Given the description of an element on the screen output the (x, y) to click on. 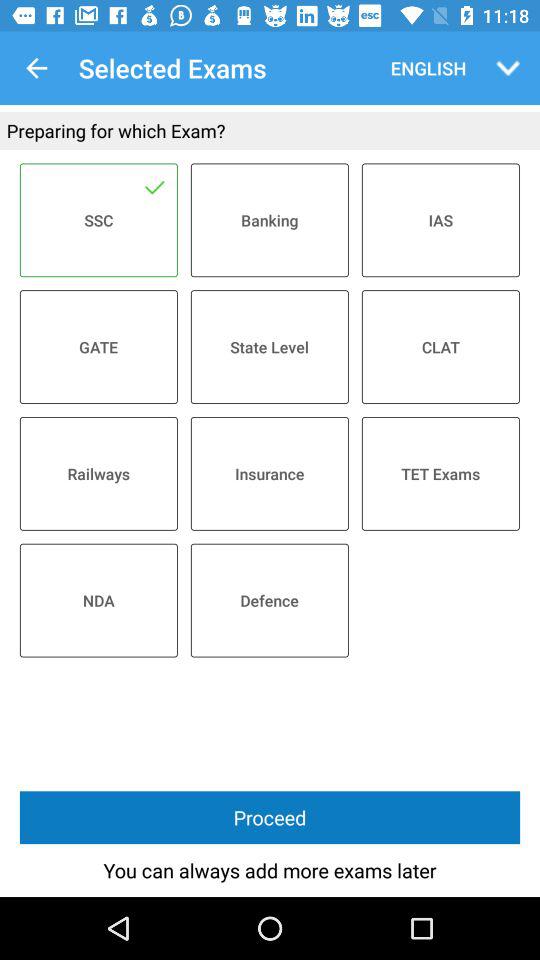
jump to proceed (269, 817)
